Given the description of an element on the screen output the (x, y) to click on. 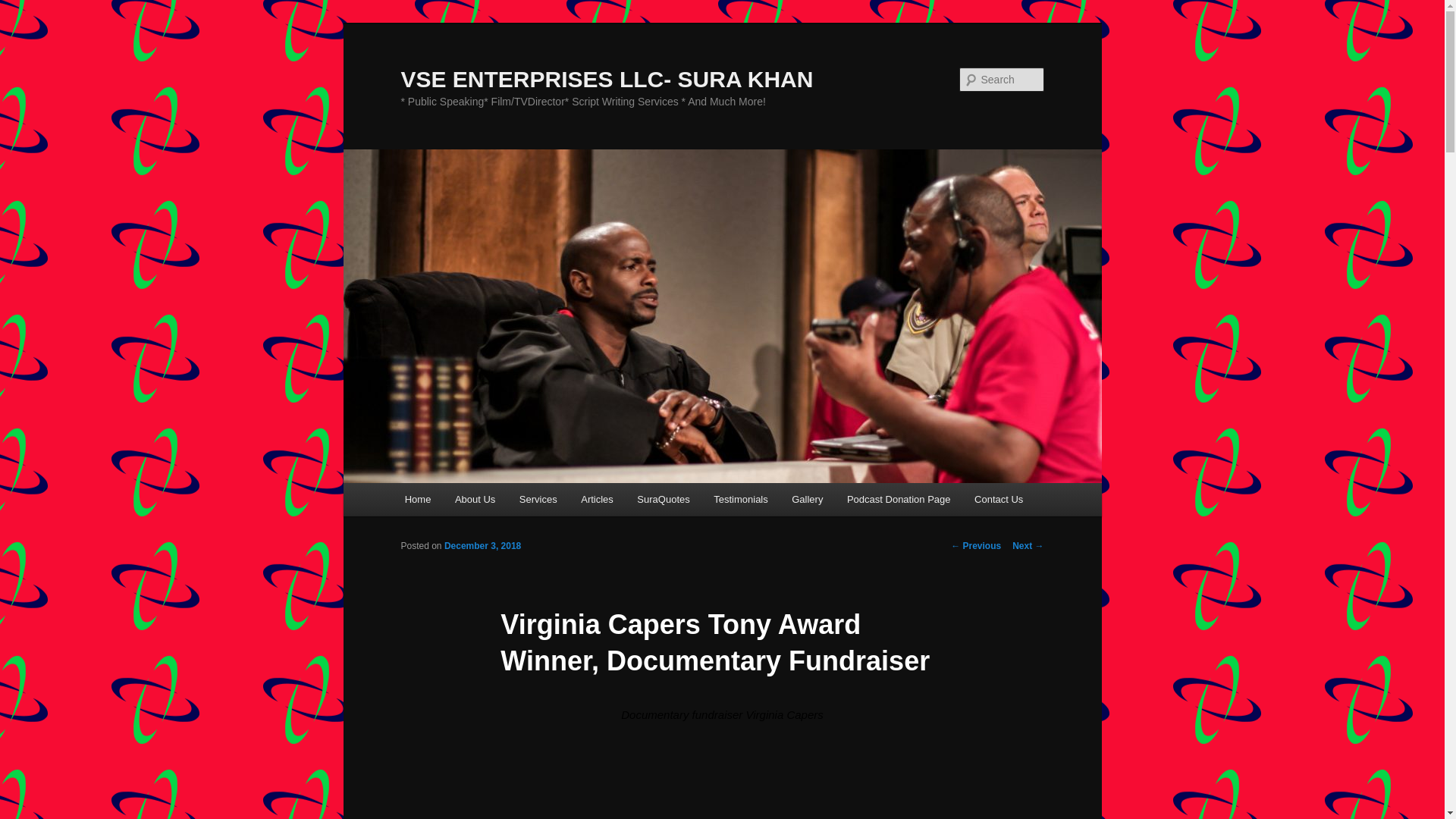
Testimonials (739, 499)
5:23 am (482, 545)
Podcast Donation Page (898, 499)
December 3, 2018 (482, 545)
Contact Us (998, 499)
Articles (596, 499)
Services (537, 499)
SuraQuotes (663, 499)
Gallery (806, 499)
